Given the description of an element on the screen output the (x, y) to click on. 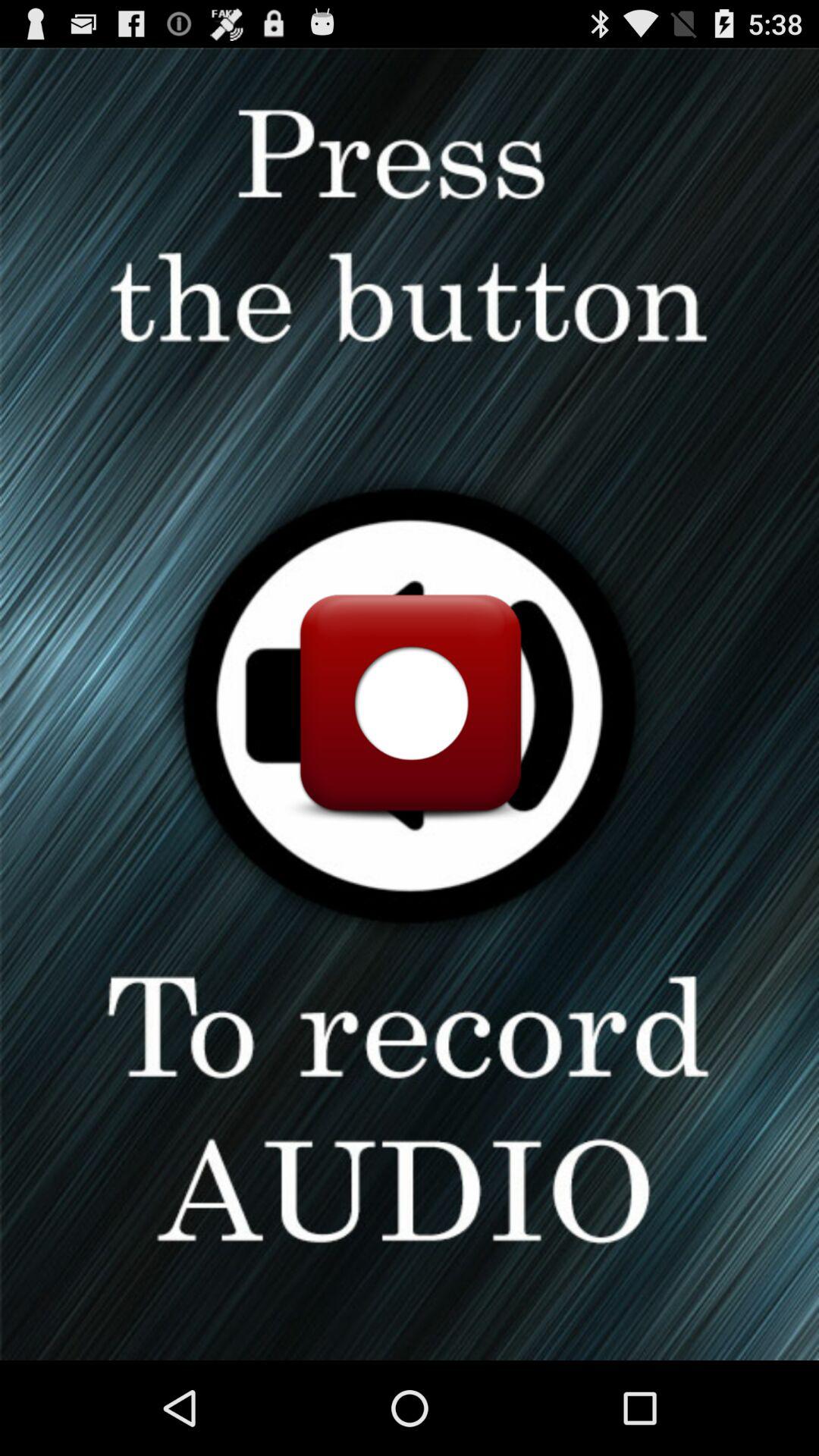
turn on audio recording (409, 703)
